Given the description of an element on the screen output the (x, y) to click on. 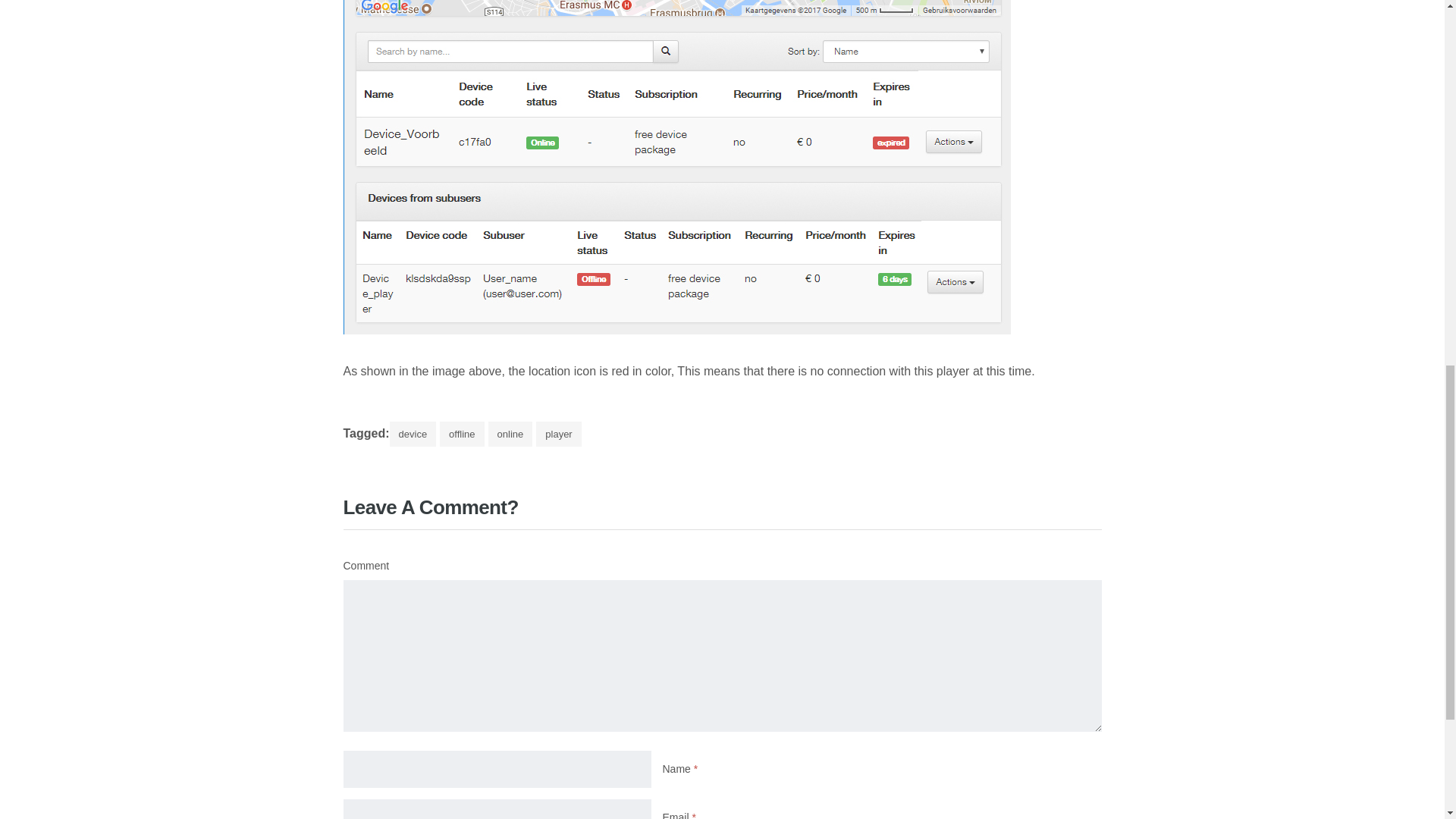
player (557, 433)
online (509, 433)
device (413, 433)
offline (461, 433)
